Given the description of an element on the screen output the (x, y) to click on. 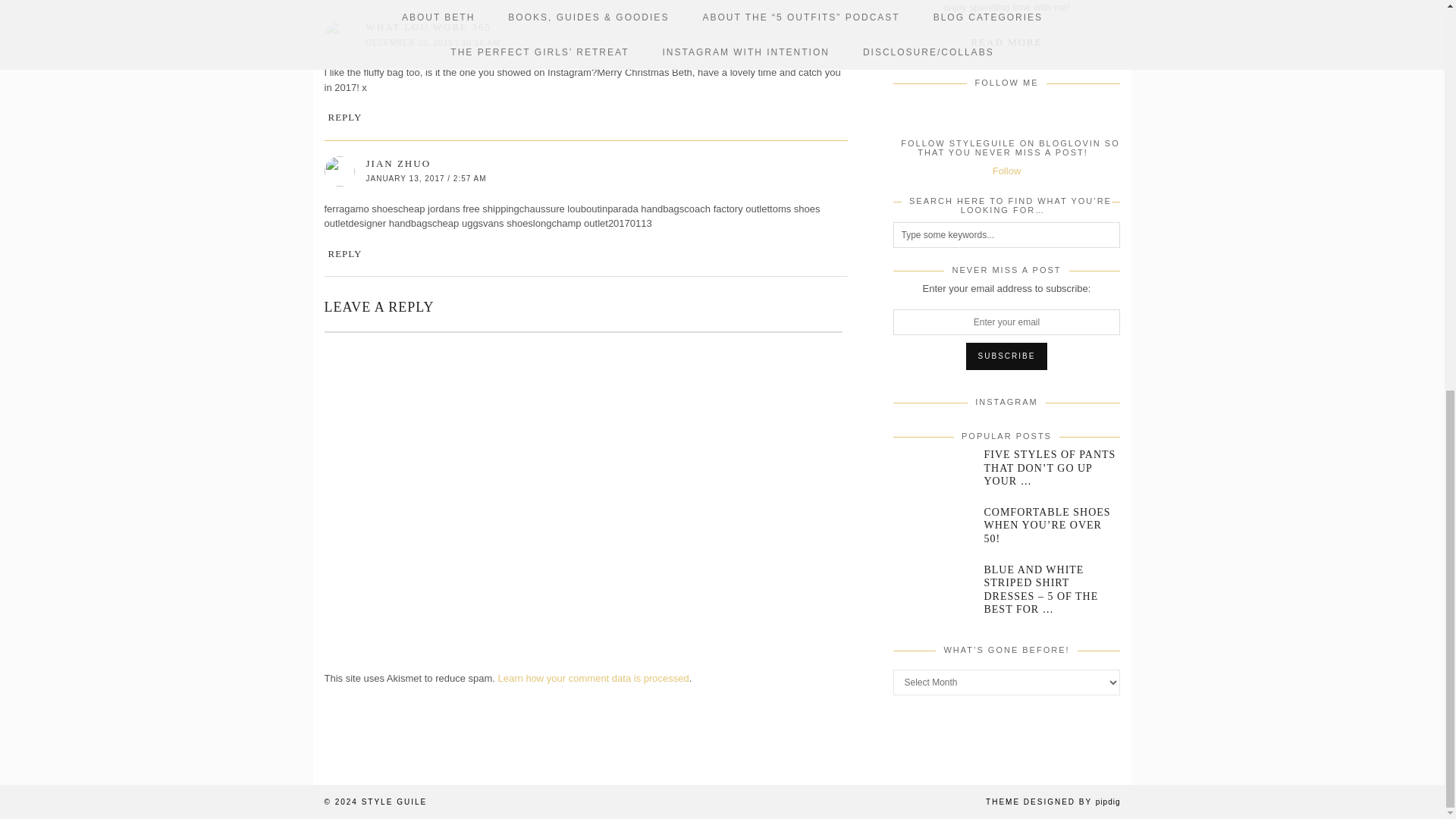
READ MORE (1007, 41)
REPLY (344, 253)
REPLY (344, 116)
Subscribe (1007, 356)
Learn how your comment data is processed (592, 677)
